Given the description of an element on the screen output the (x, y) to click on. 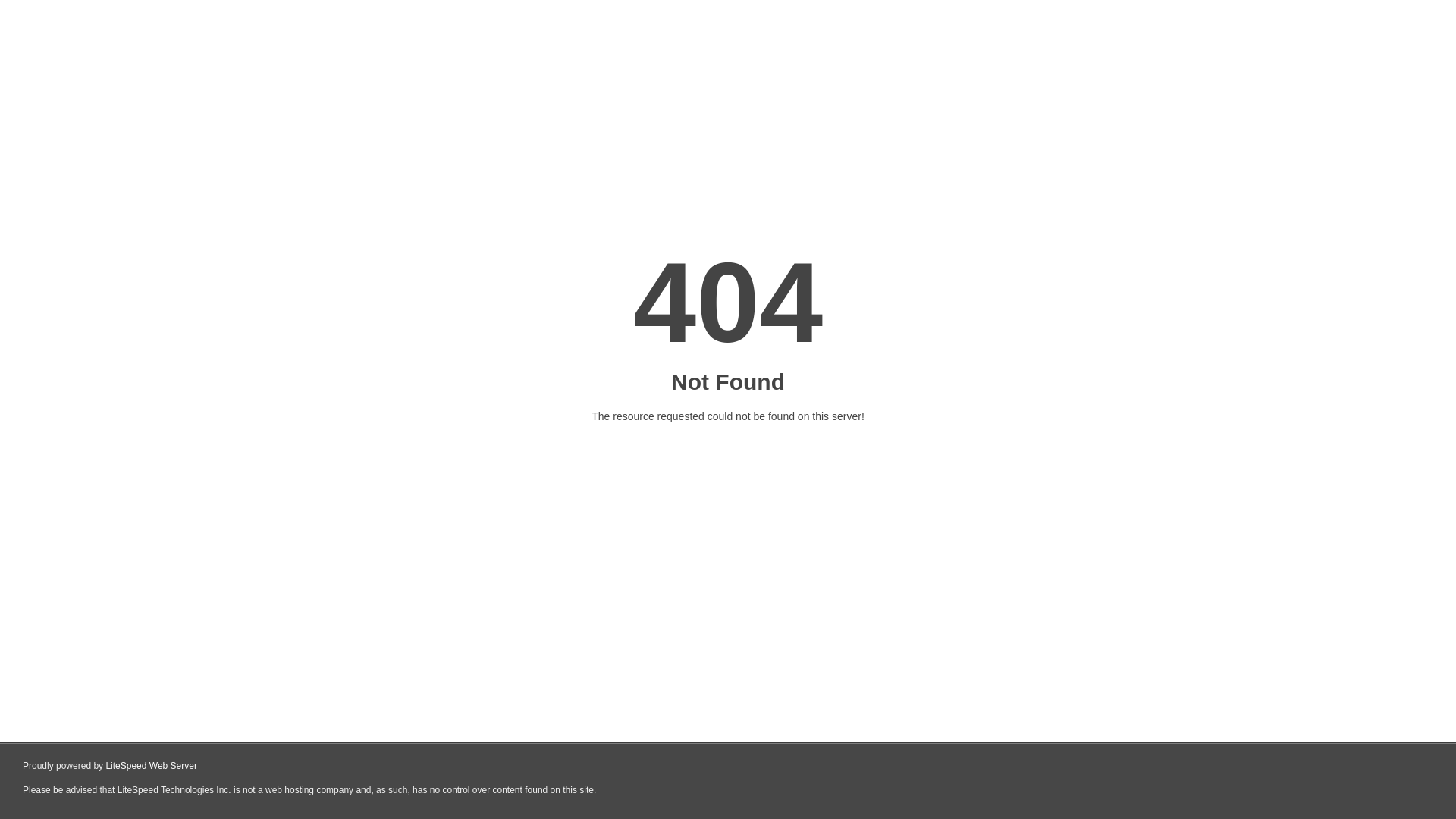
LiteSpeed Web Server Element type: text (151, 765)
